Given the description of an element on the screen output the (x, y) to click on. 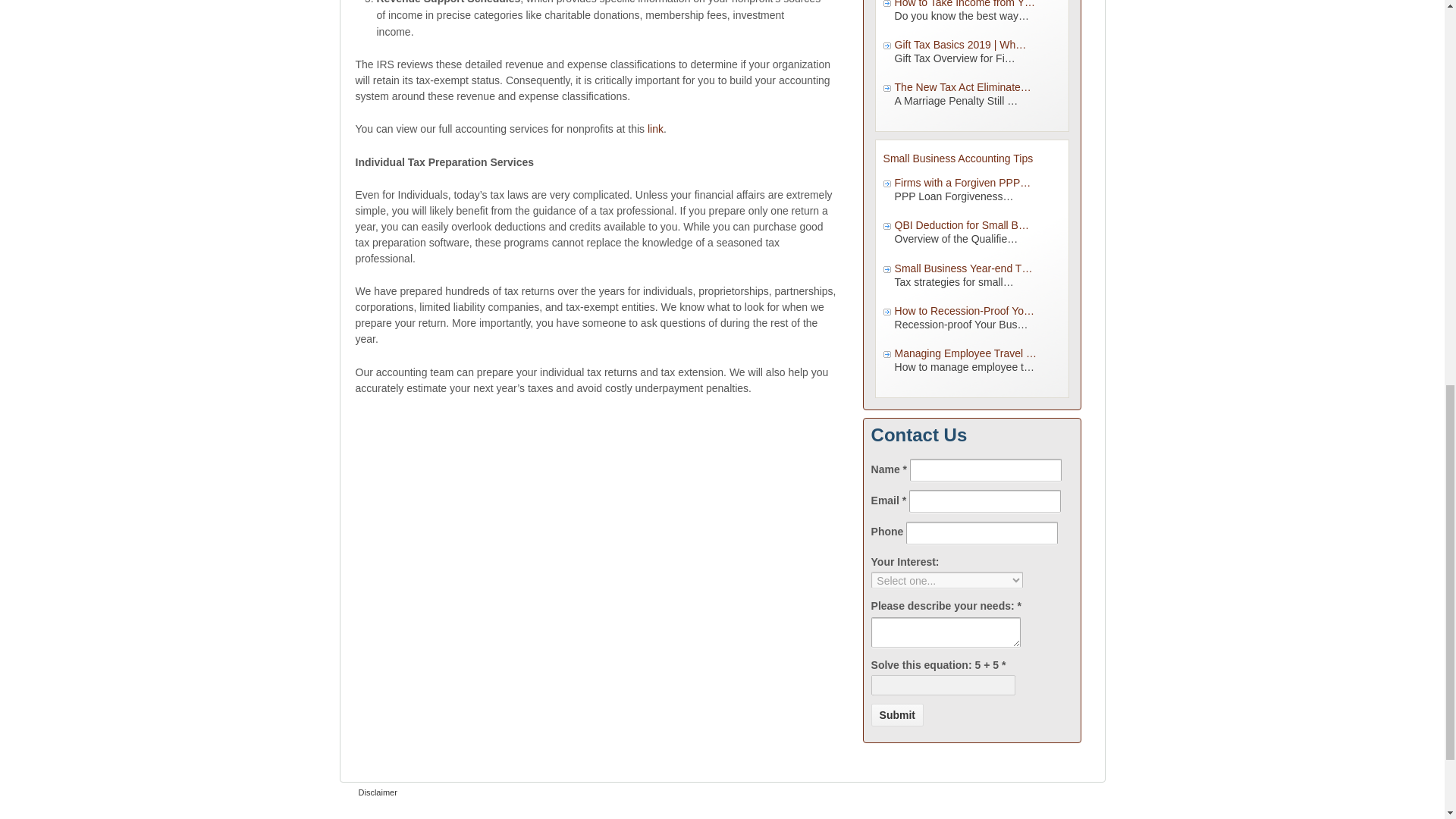
Full Accounting Services (655, 128)
Submit (896, 714)
link (655, 128)
